Given the description of an element on the screen output the (x, y) to click on. 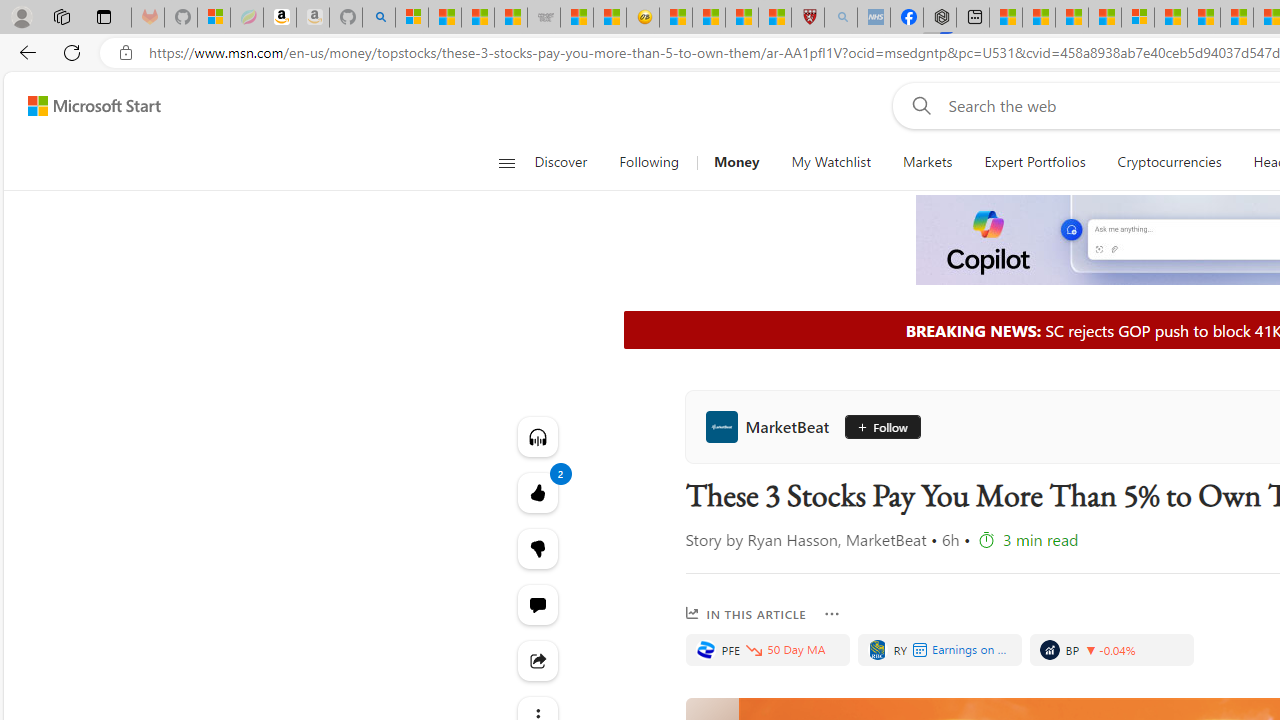
Skip to content (86, 105)
PFE, PFIZER INC.. Price is 28.79. Decreased by -0.83% (766, 650)
14 Common Myths Debunked By Scientific Facts (1237, 17)
Recipes - MSN (676, 17)
Listen to this article (537, 436)
2 Like (537, 492)
PFIZER INC. (705, 650)
